Given the description of an element on the screen output the (x, y) to click on. 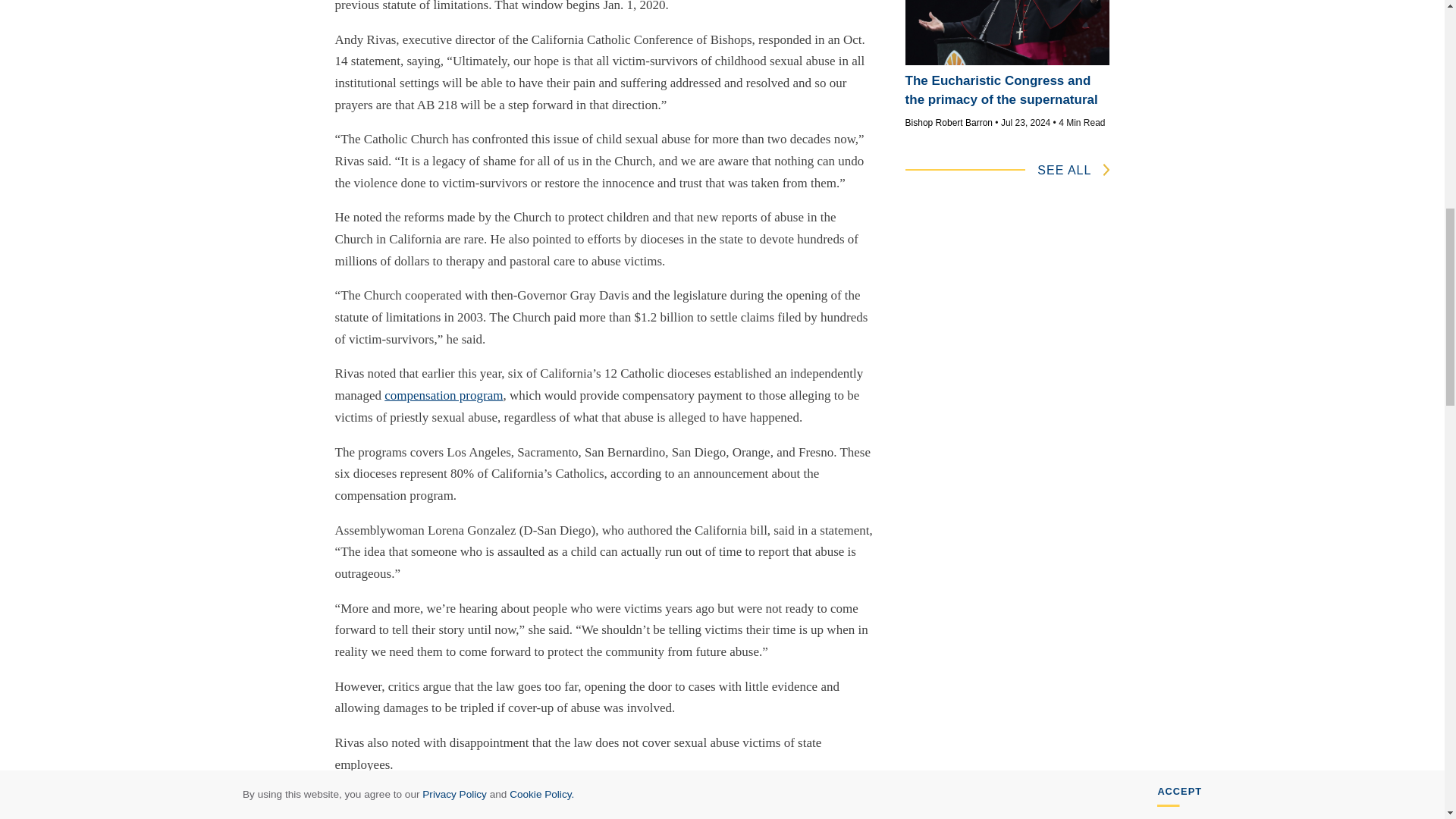
Posts by Bishop Robert Barron (948, 122)
